Given the description of an element on the screen output the (x, y) to click on. 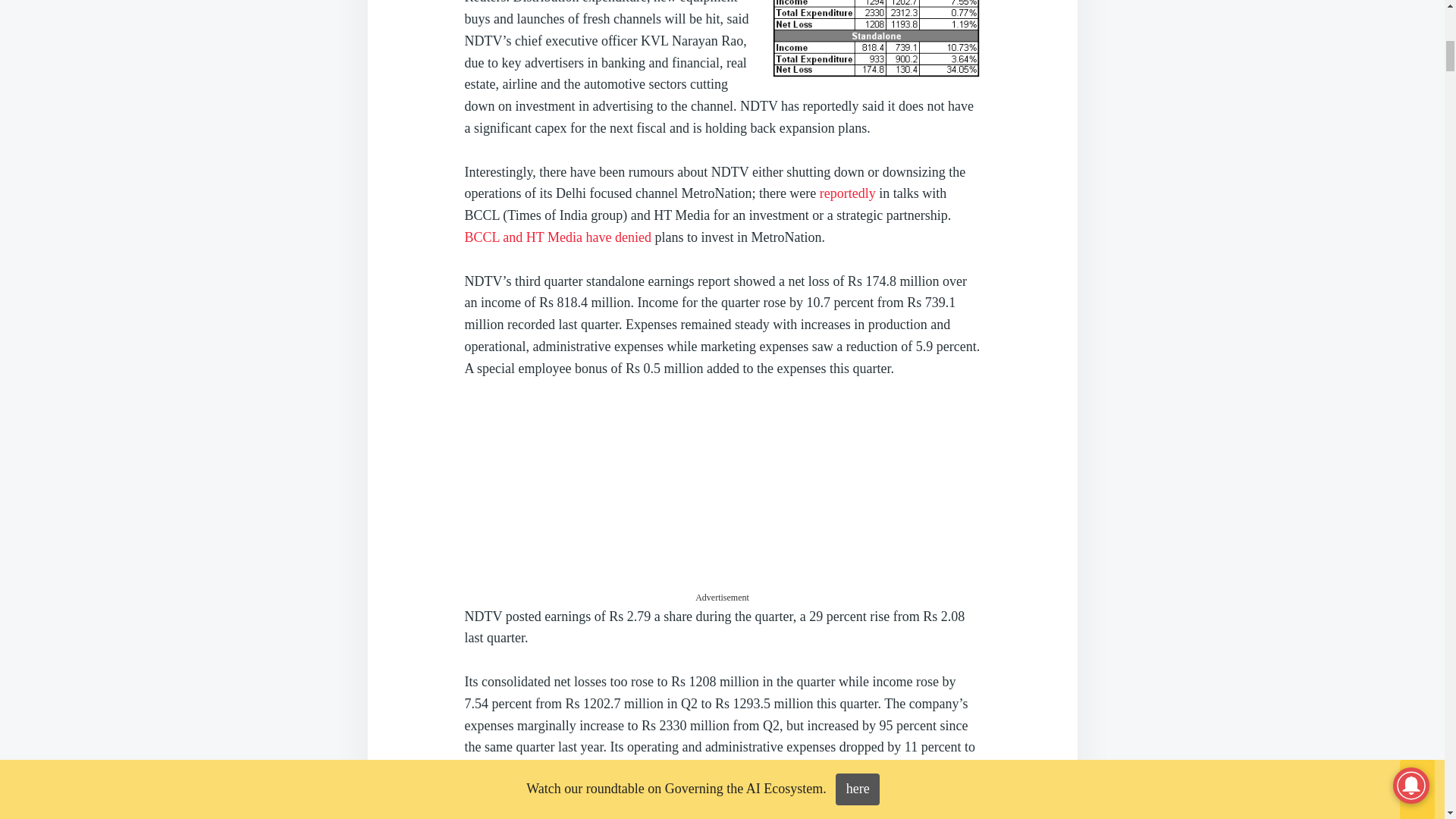
3rd party ad content (721, 495)
q309-snapshot-ndtv (875, 38)
MetroNation BCCL  (847, 192)
reportedly (847, 192)
BCCL and HT Media have denied (557, 237)
E4M BCCL MetroNation (557, 237)
